Given the description of an element on the screen output the (x, y) to click on. 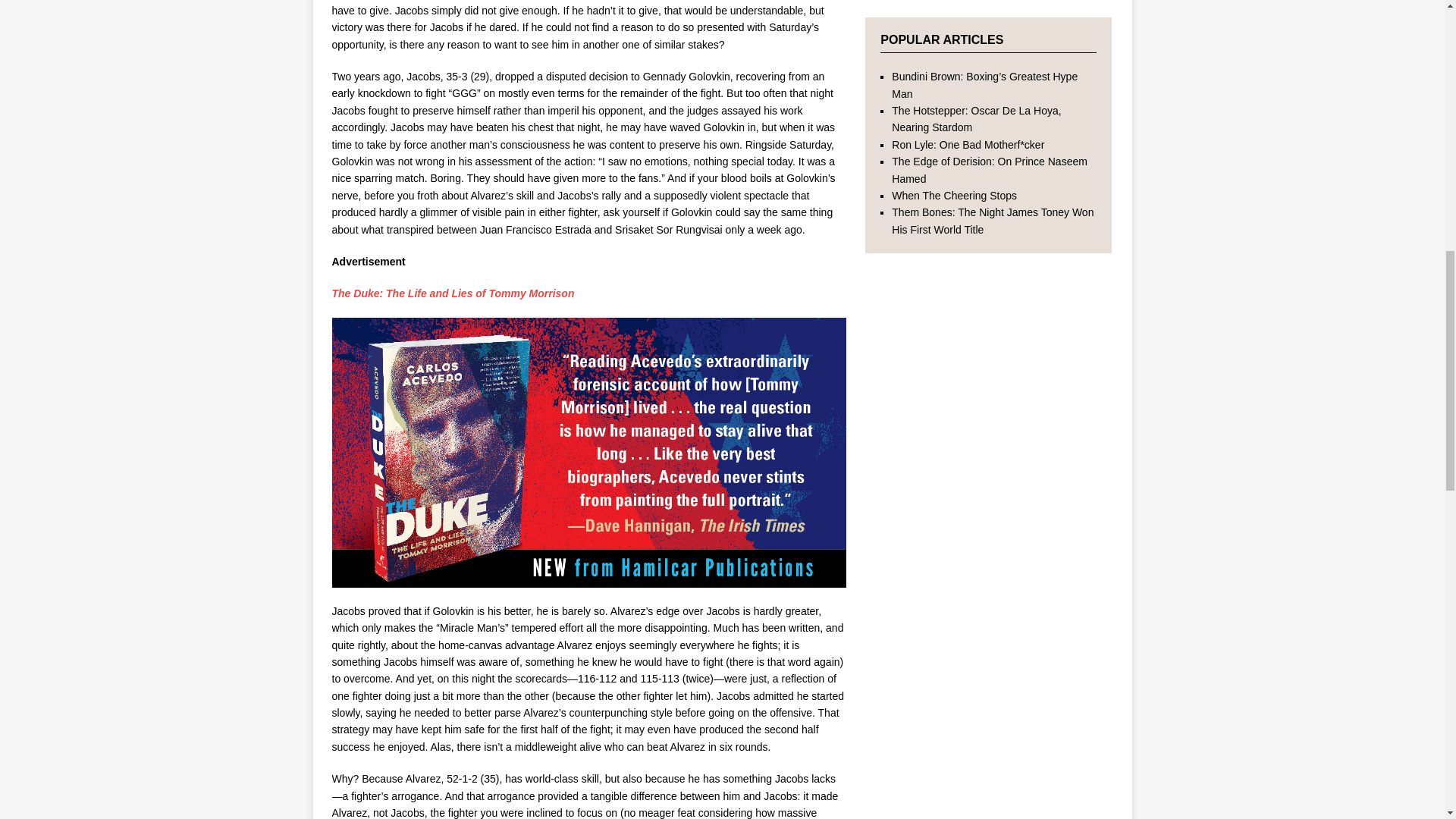
The Hotstepper: Oscar De La Hoya, Nearing Stardom (976, 118)
The Edge of Derision: On Prince Naseem Hamed (989, 169)
The Duke: The Life and Lies of Tommy Morrison (453, 293)
When The Cheering Stops (953, 195)
Them Bones: The Night James Toney Won His First World Title (992, 220)
